Given the description of an element on the screen output the (x, y) to click on. 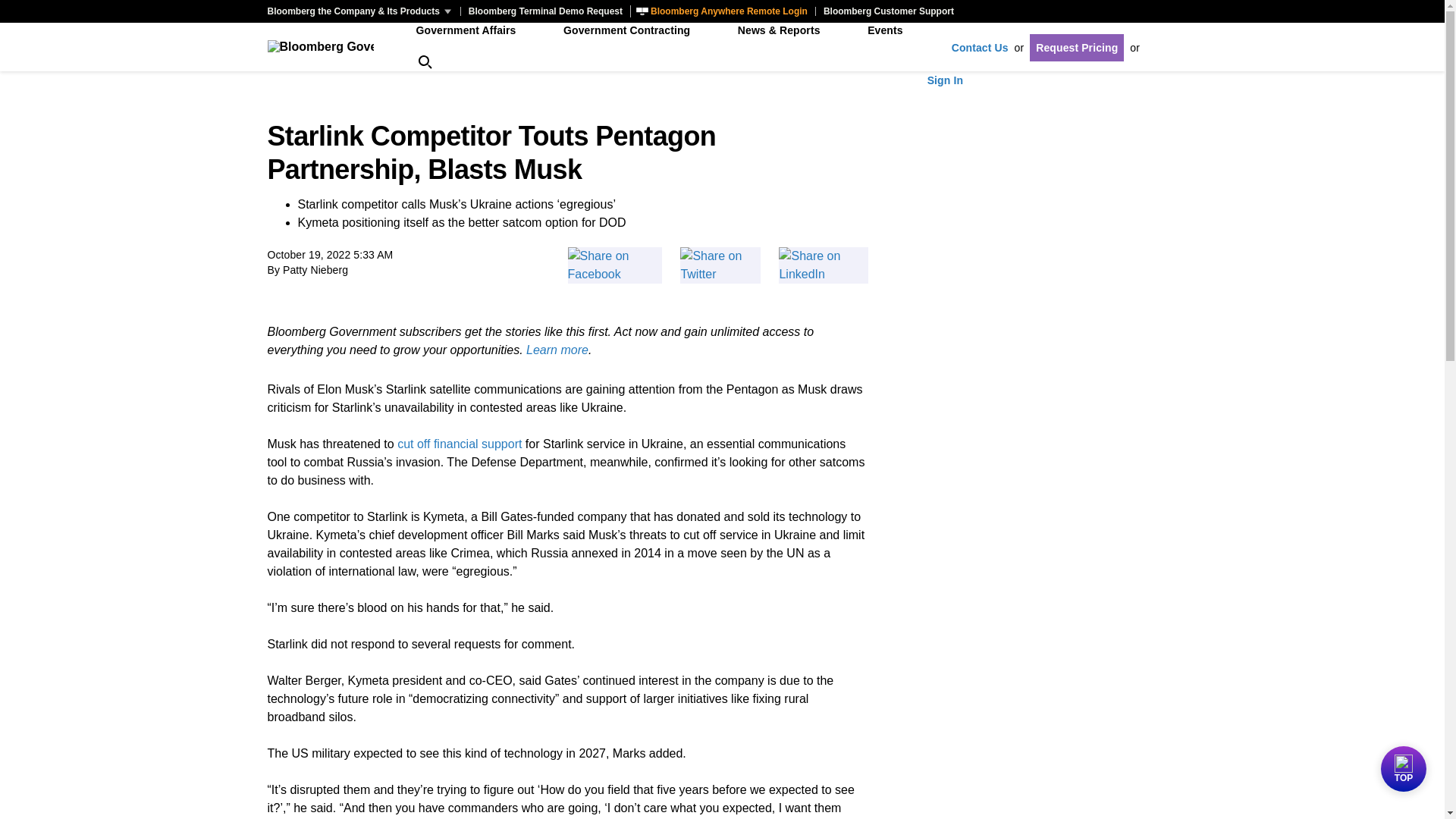
Share on Facebook (614, 265)
Bloomberg Customer Support (887, 10)
Share on Twitter (719, 265)
TOP (1403, 768)
Bloomberg Anywhere Remote Login (722, 10)
Bloomberg Terminal Demo Request (545, 10)
Share on LinkedIn (822, 265)
